Given the description of an element on the screen output the (x, y) to click on. 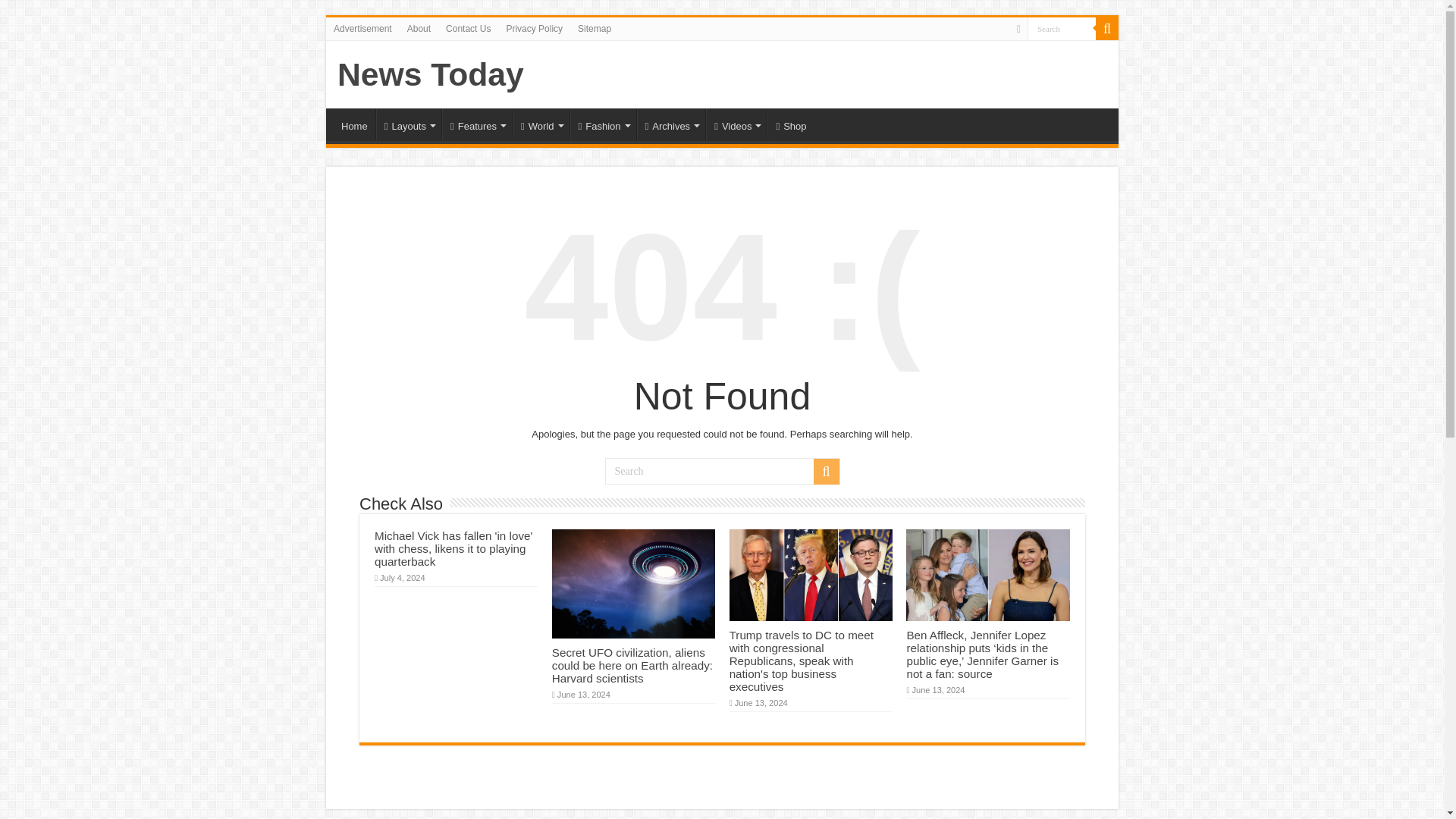
Search (1061, 28)
Search (722, 470)
Search (1061, 28)
Search (1061, 28)
